Given the description of an element on the screen output the (x, y) to click on. 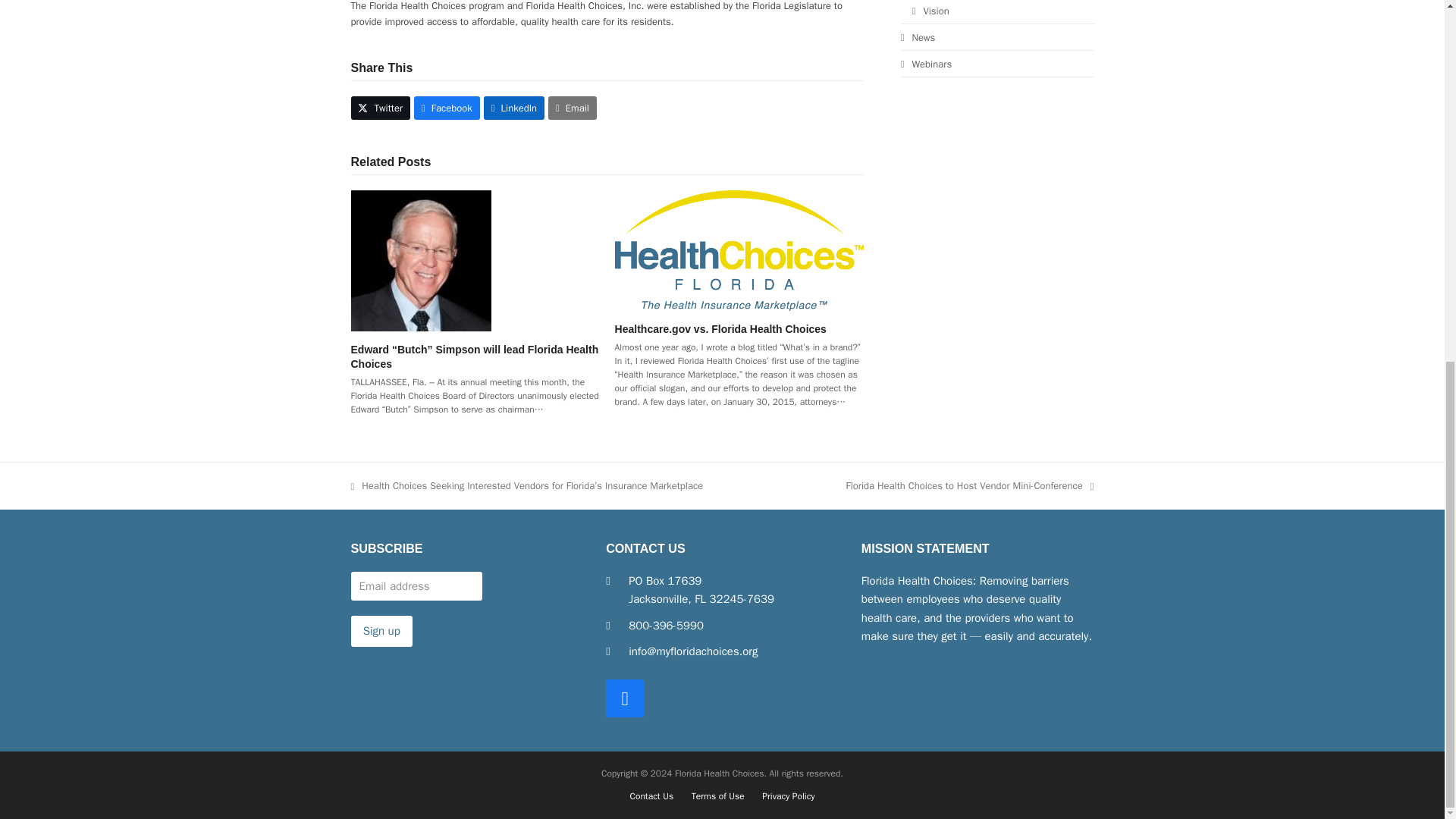
Email (572, 107)
Healthcare.gov vs. Florida Health Choices (720, 328)
Sign up (381, 631)
LinkedIn (513, 107)
Healthcare.gov vs. Florida Health Choices (738, 249)
Facebook (446, 107)
Facebook (624, 698)
Twitter (380, 107)
